Given the description of an element on the screen output the (x, y) to click on. 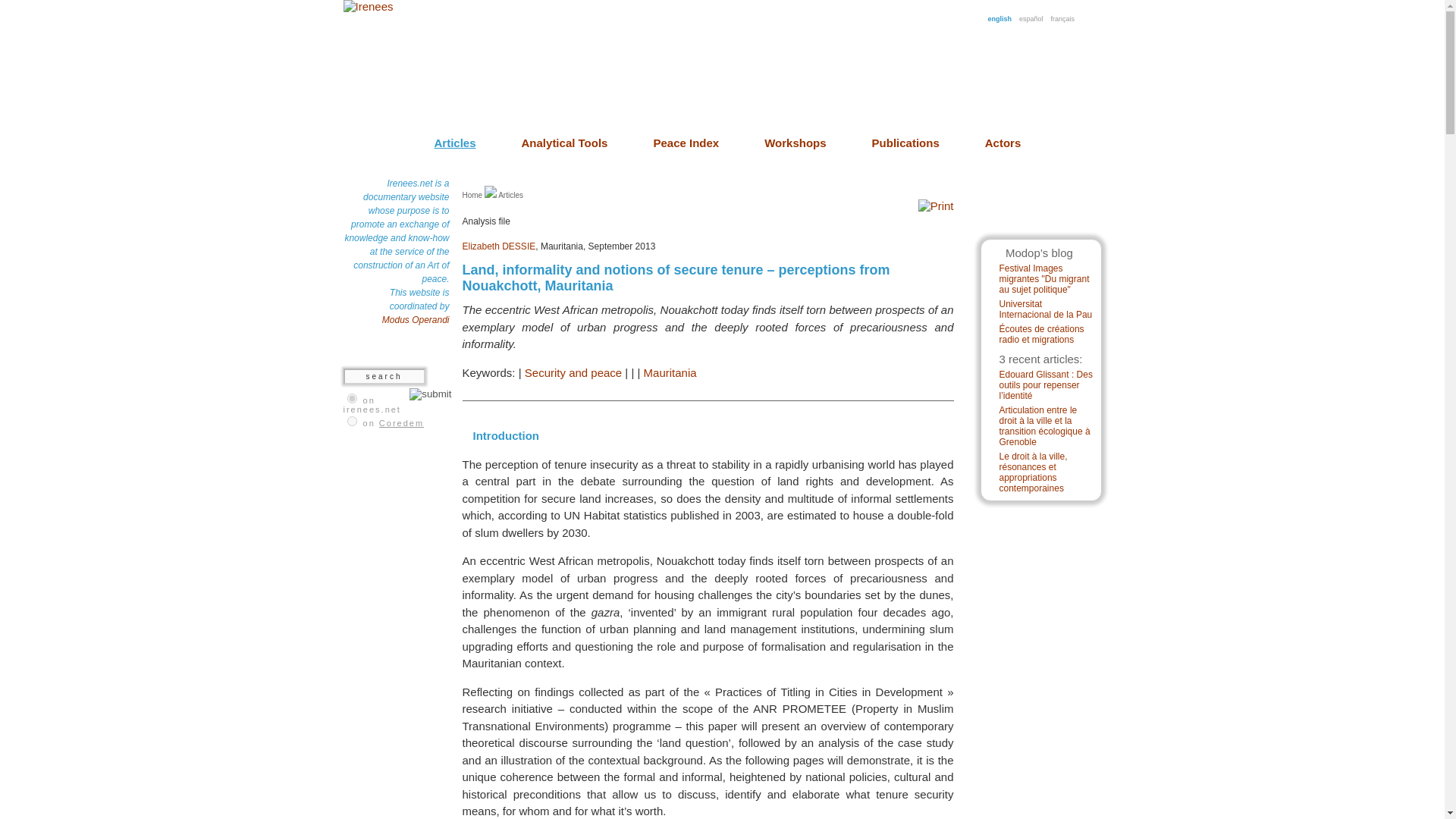
Mauritania (670, 371)
Search (383, 376)
Show a printable version of this article (932, 205)
Home (473, 194)
Coredem (400, 422)
Universitat Internacional de la Pau (1045, 309)
Articles (509, 194)
Publications (905, 142)
Analytical Tools (564, 142)
Security and peace (572, 371)
